Given the description of an element on the screen output the (x, y) to click on. 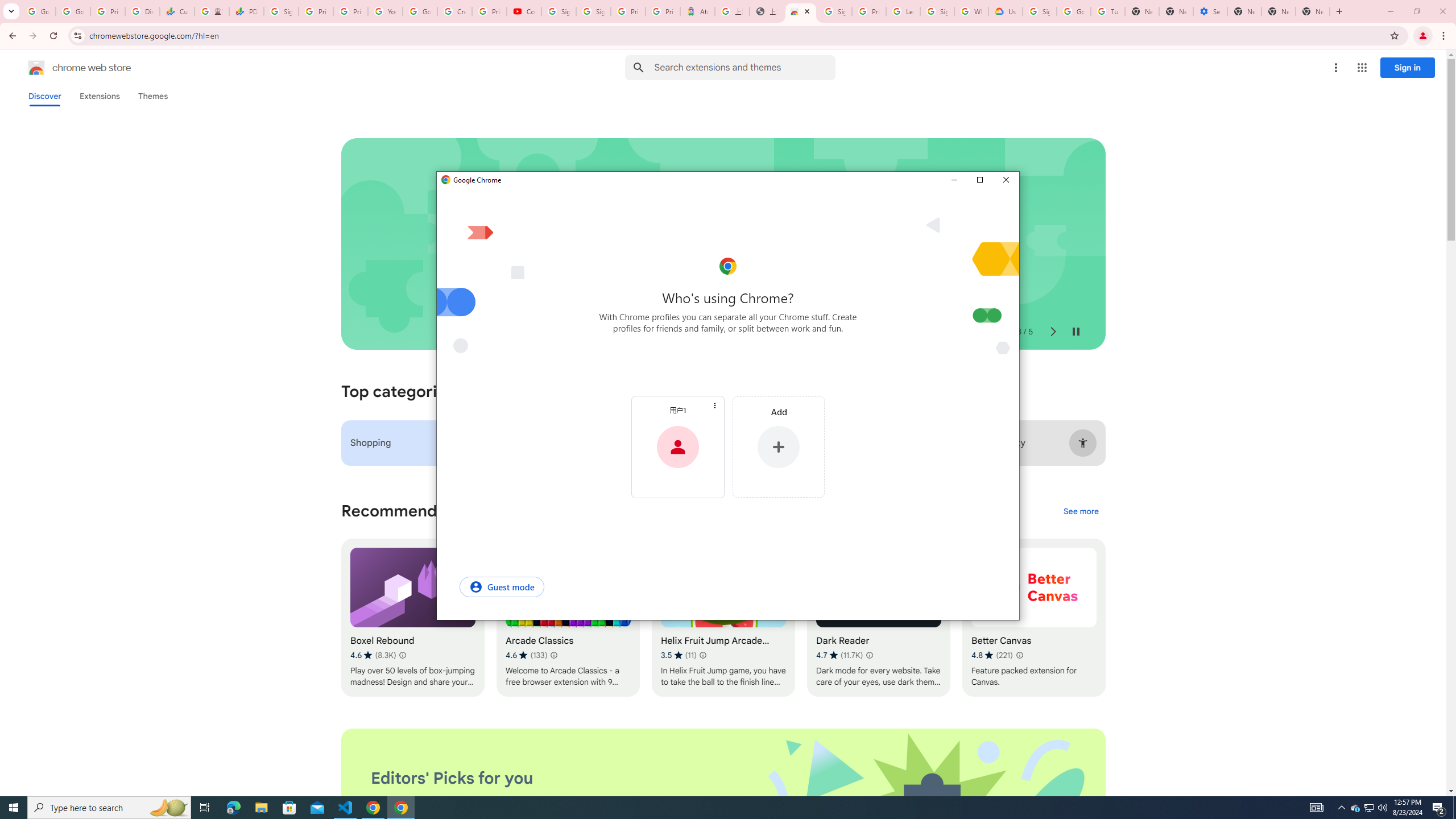
Average rating 3.5 out of 5 stars. 11 ratings. (679, 655)
Currencies - Google Finance (176, 11)
Content Creator Programs & Opportunities - YouTube Creators (524, 11)
Who are Google's partners? - Privacy and conditions - Google (970, 11)
Action Center, 2 new notifications (1439, 807)
Average rating 4.8 out of 5 stars. 221 ratings. (992, 655)
Add (778, 446)
Learn more about results and reviews "Better Canvas" (1019, 655)
